Given the description of an element on the screen output the (x, y) to click on. 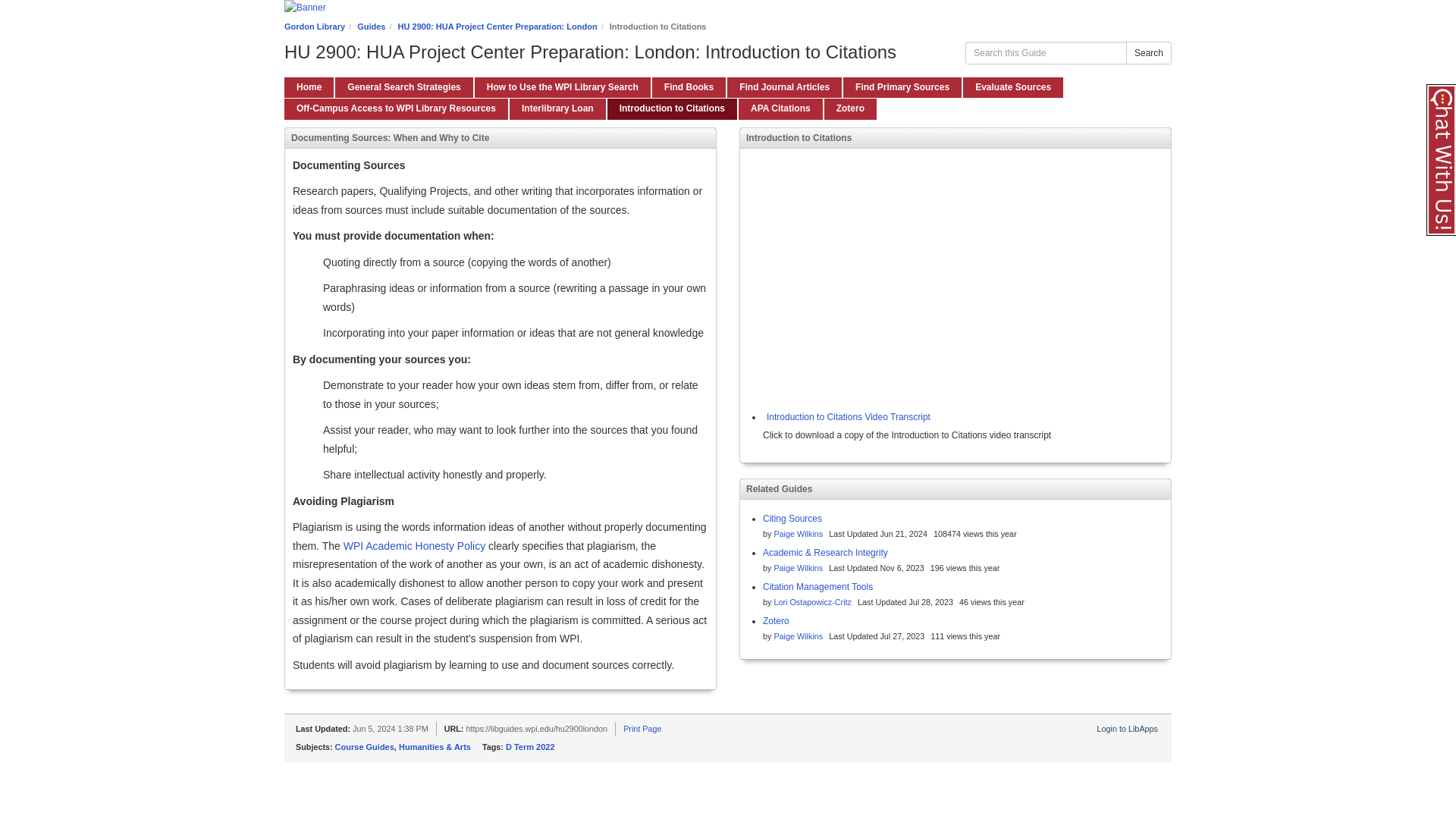
Evaluate Sources (1012, 86)
Zotero (775, 620)
General Search Strategies (402, 86)
Introduction to Citations Video Transcript (846, 416)
Course Guides (364, 746)
Interlibrary Loan (557, 108)
Find Books (688, 86)
APA Citations (780, 108)
Paige Wilkins (797, 635)
Find Primary Sources (901, 86)
Lori Ostapowicz-Critz (812, 601)
Home (308, 86)
Gordon Library (314, 26)
Guides (370, 26)
Introduction to Citations (671, 108)
